Given the description of an element on the screen output the (x, y) to click on. 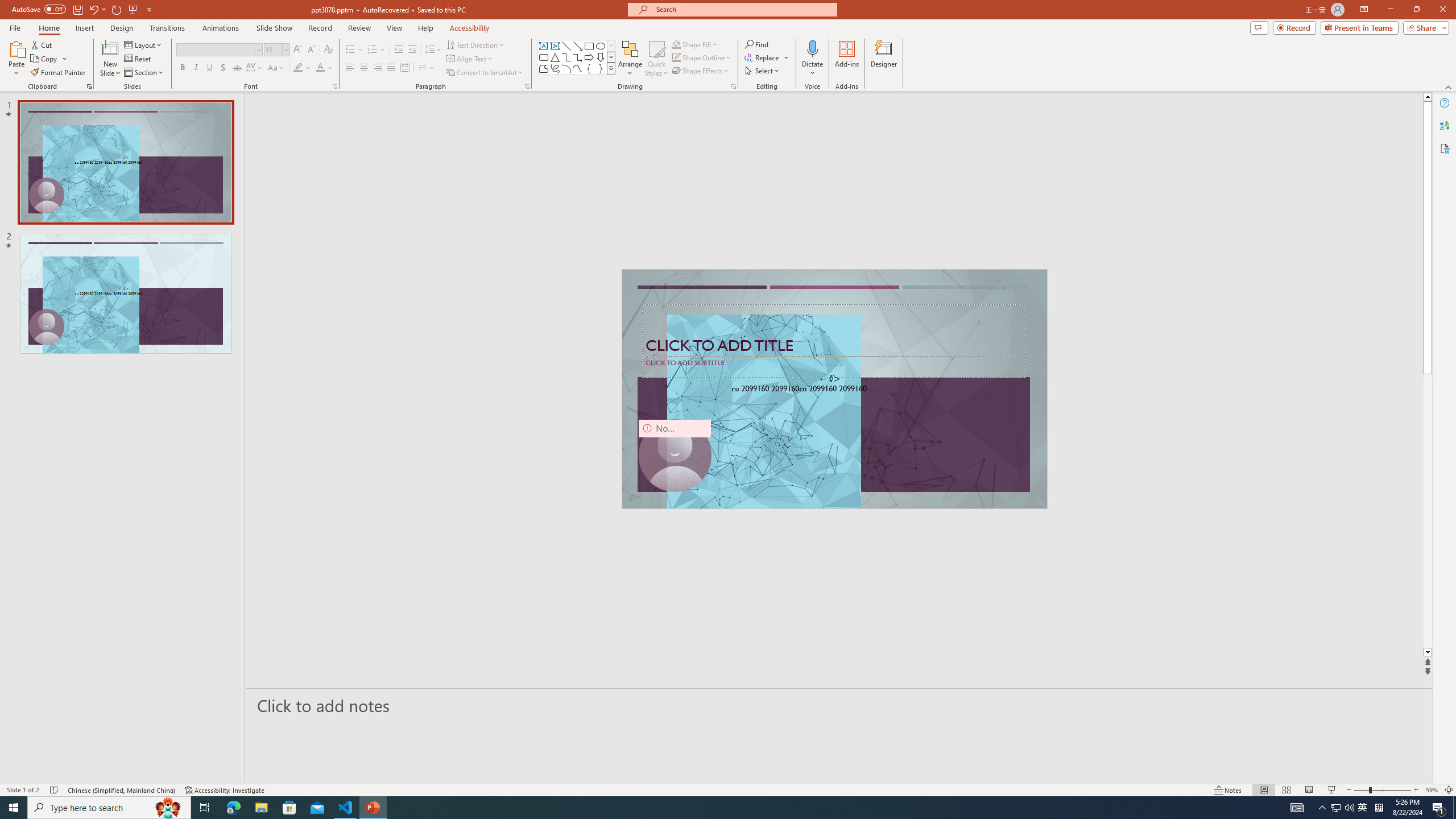
Shape Outline (701, 56)
Cut (42, 44)
Reset (138, 58)
Decrease Font Size (310, 49)
Arrow: Down (600, 57)
Line Arrow (577, 45)
Bold (182, 67)
Paragraph... (526, 85)
Office Clipboard... (88, 85)
Select (762, 69)
Left Brace (589, 68)
Connector: Elbow Arrow (577, 57)
Text Direction (476, 44)
